Given the description of an element on the screen output the (x, y) to click on. 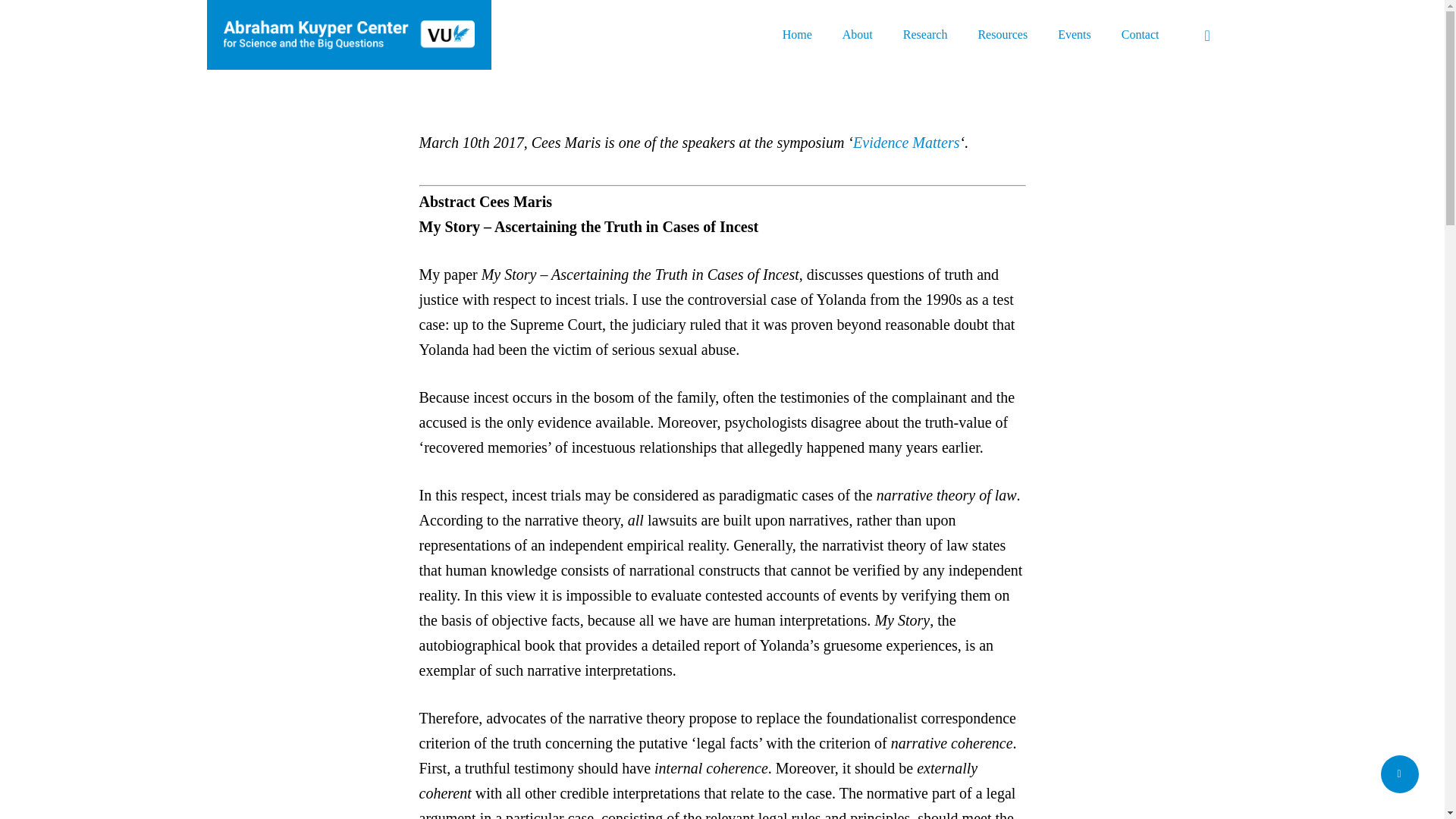
Home (797, 34)
Resources (1001, 34)
Evidence Matters (906, 142)
Contact (1139, 34)
About (857, 34)
Events (1074, 34)
Research (924, 34)
